Given the description of an element on the screen output the (x, y) to click on. 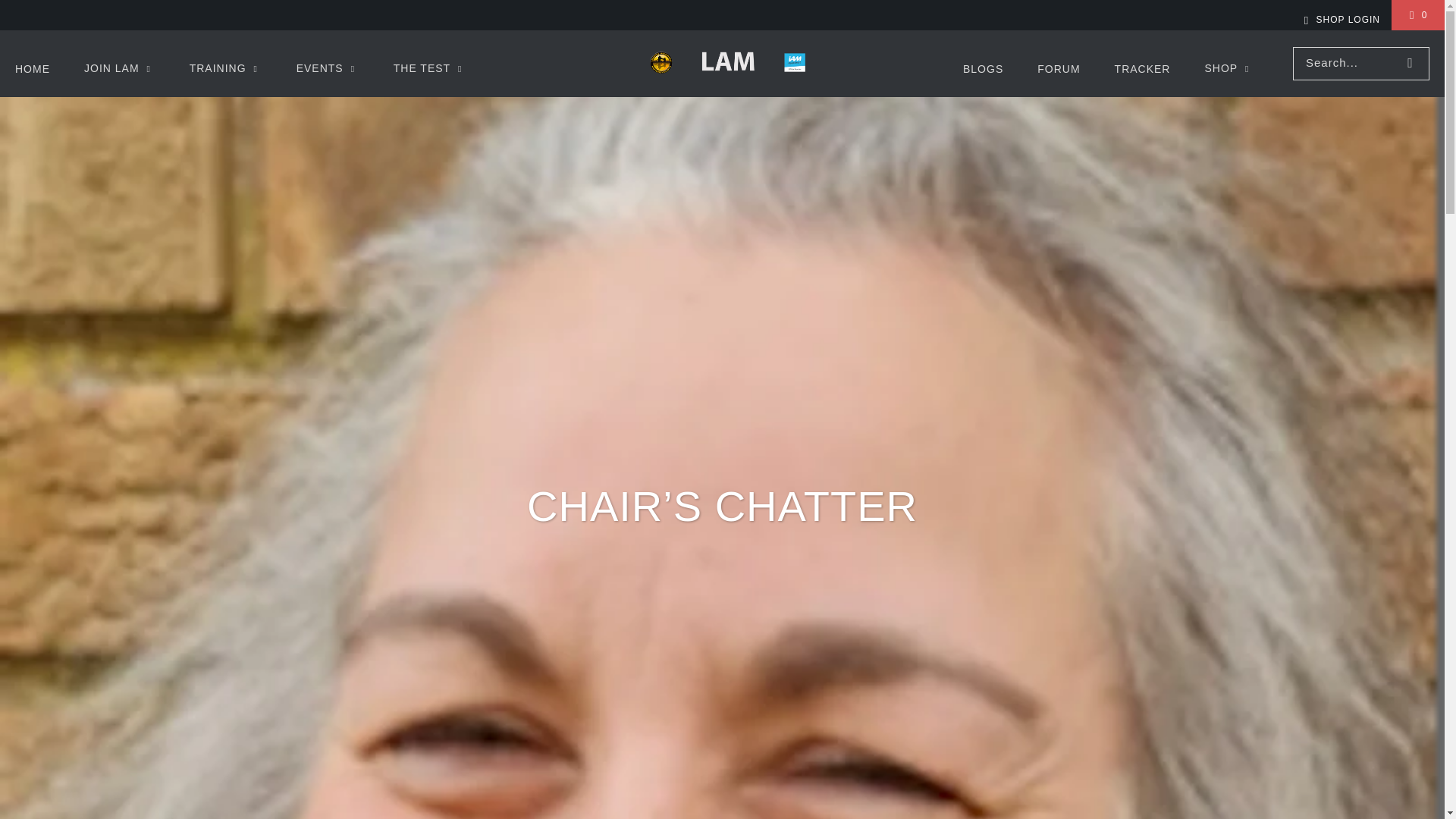
My Account  (1339, 20)
London Advanced Motorcyclists (727, 63)
